Given the description of an element on the screen output the (x, y) to click on. 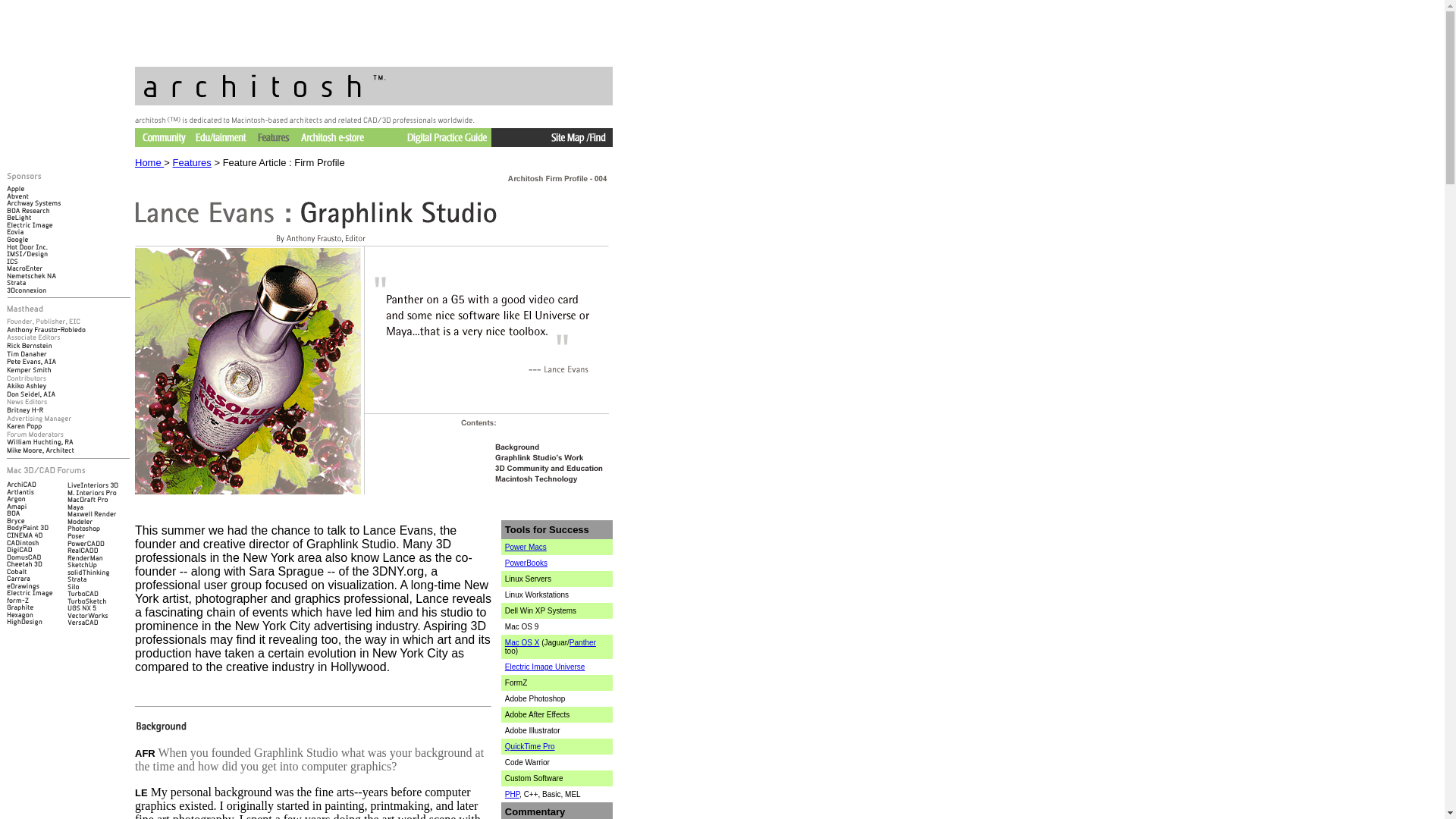
Home (149, 162)
Electric Image Universe (545, 666)
Power Macs (526, 546)
Features (192, 162)
PHP (512, 794)
QuickTime Pro (529, 746)
PowerBooks (526, 562)
Panther (582, 642)
Mac OS X (522, 642)
